Given the description of an element on the screen output the (x, y) to click on. 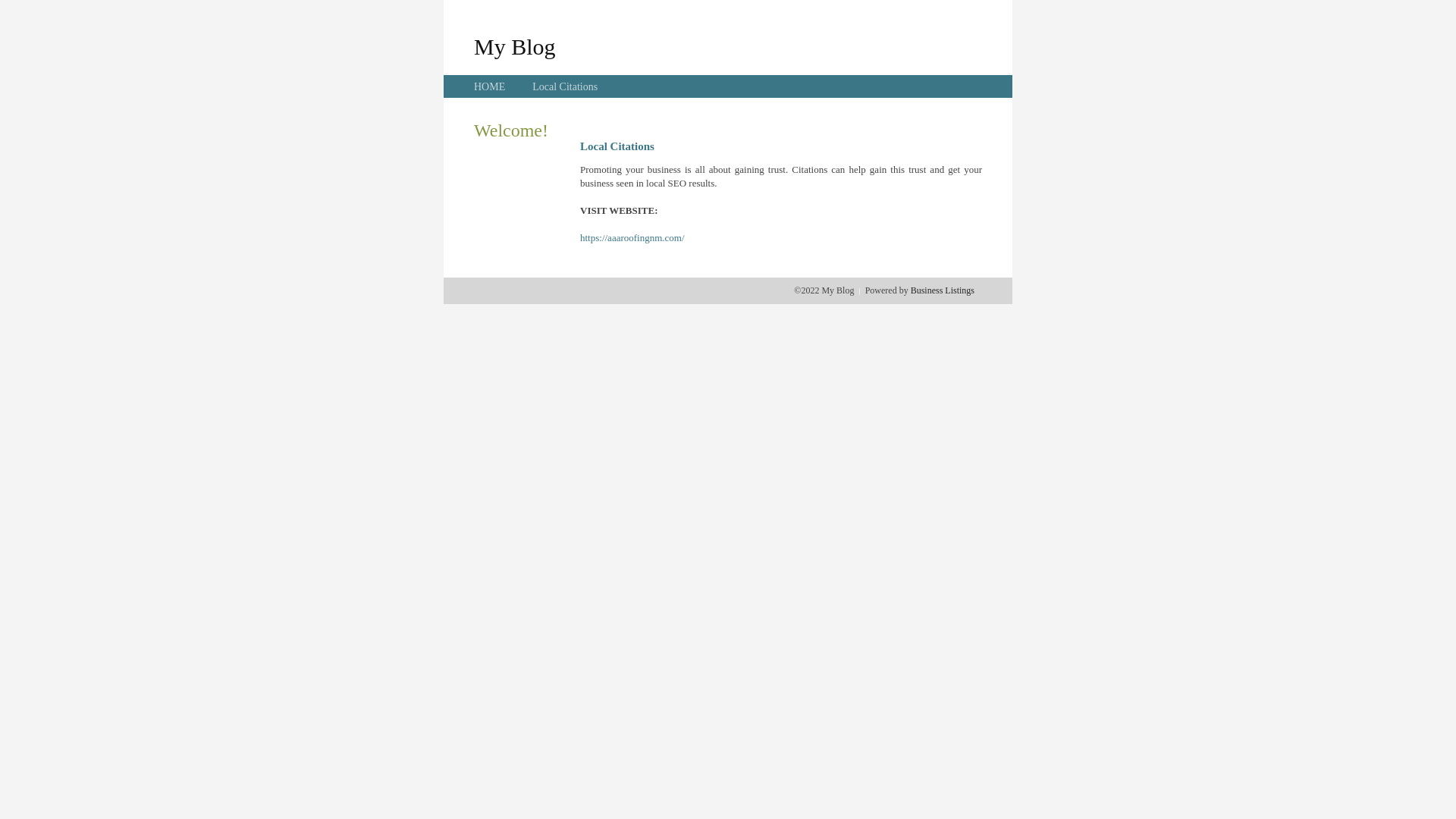
HOME Element type: text (489, 86)
Local Citations Element type: text (564, 86)
My Blog Element type: text (514, 46)
Business Listings Element type: text (942, 290)
https://aaaroofingnm.com/ Element type: text (632, 237)
